Given the description of an element on the screen output the (x, y) to click on. 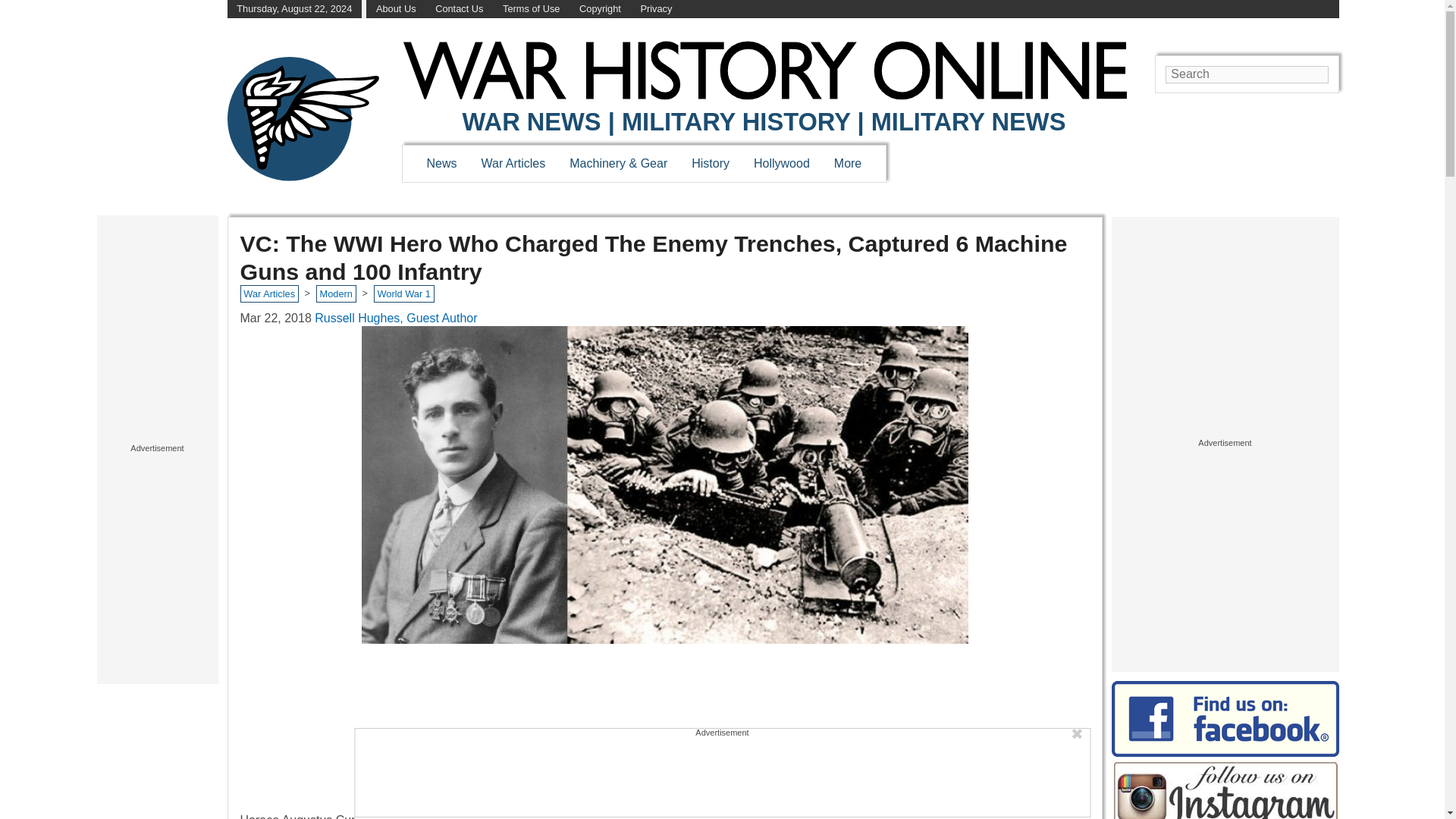
Contact Us (459, 8)
Privacy (655, 8)
News (441, 163)
Hollywood (781, 163)
War Articles (513, 163)
History (710, 163)
Terms of Use (530, 8)
Copyright (600, 8)
More (847, 163)
About Us (395, 8)
